Given the description of an element on the screen output the (x, y) to click on. 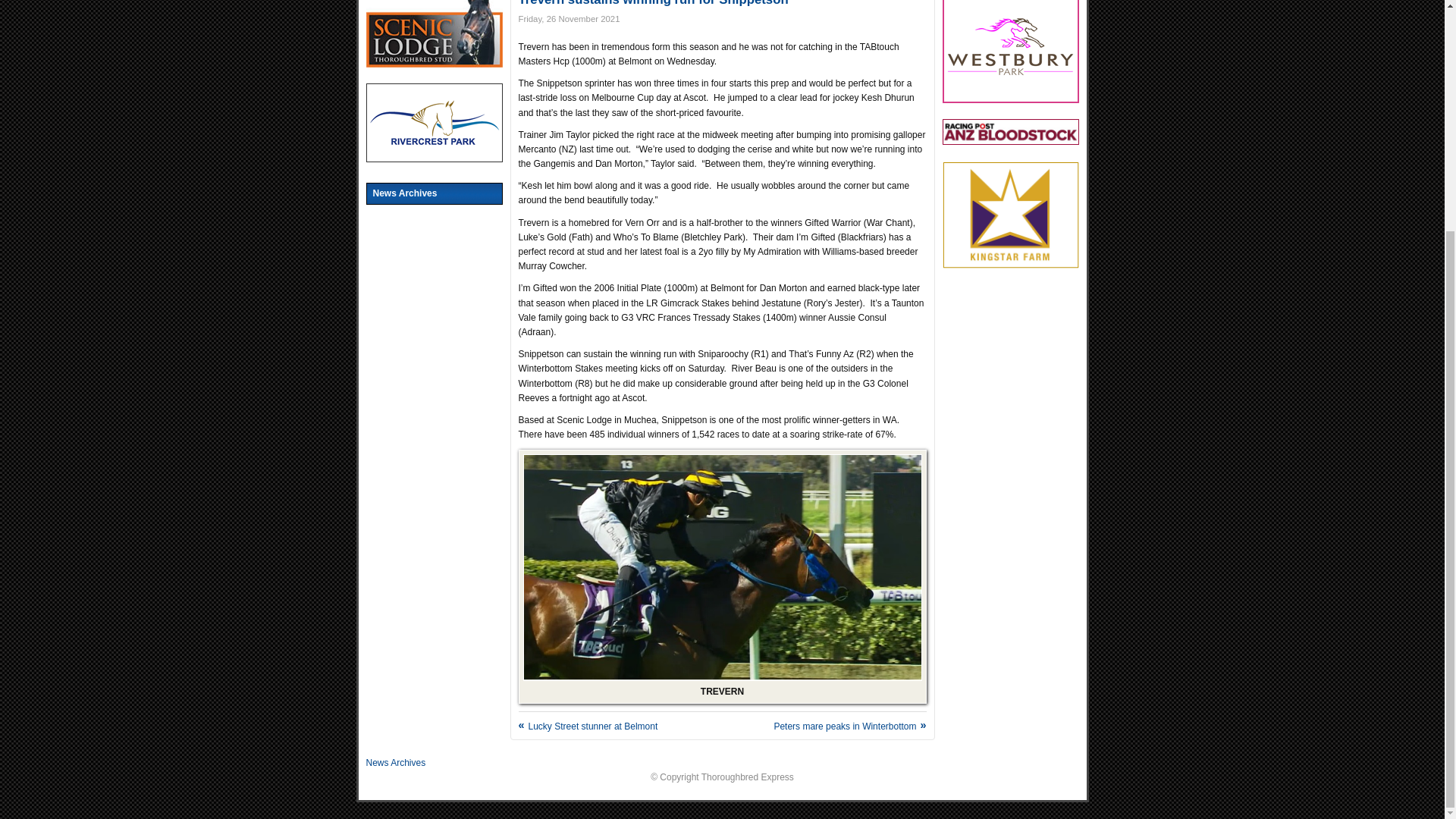
News Archives (395, 762)
News Archives (433, 193)
